Given the description of an element on the screen output the (x, y) to click on. 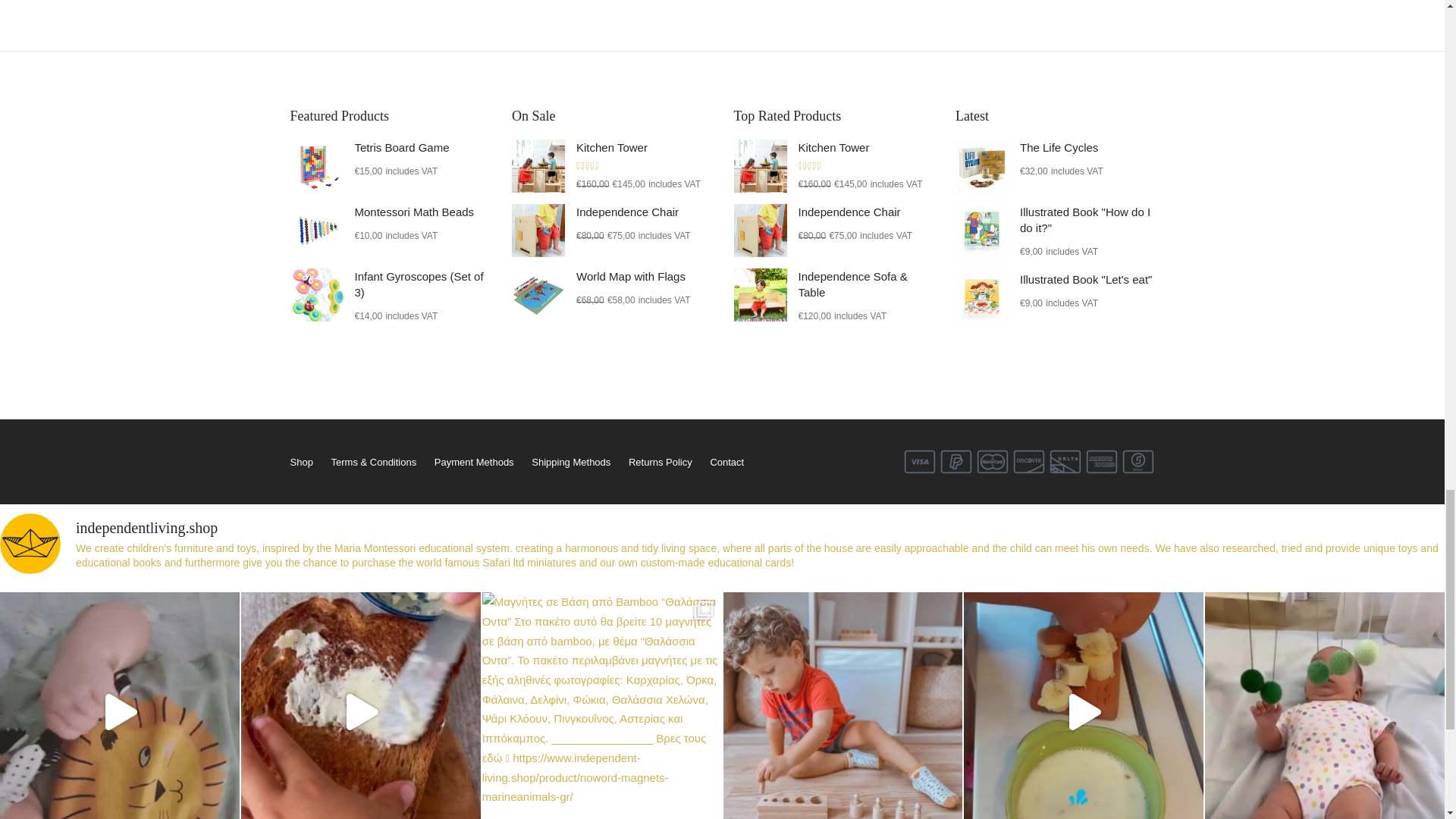
Independence Chair (538, 230)
Kitchen Tower (538, 165)
World Map with Flags (538, 294)
Independence Chair (760, 230)
Kitchen Tower (760, 165)
Tetris Board Game (315, 165)
Montessori Math Beads (315, 230)
